Given the description of an element on the screen output the (x, y) to click on. 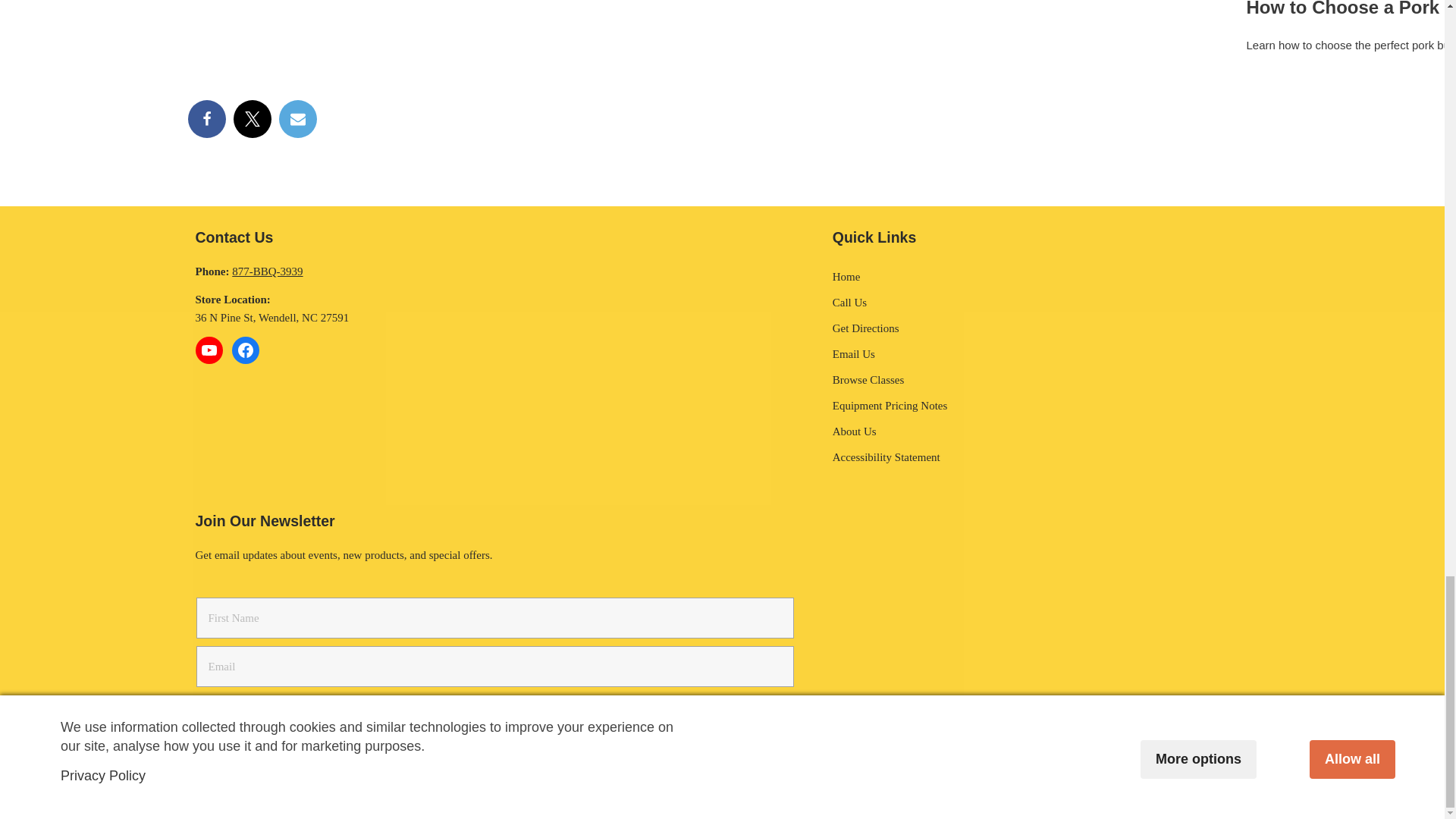
X (251, 118)
Email (298, 118)
Facebook (206, 118)
